Given the description of an element on the screen output the (x, y) to click on. 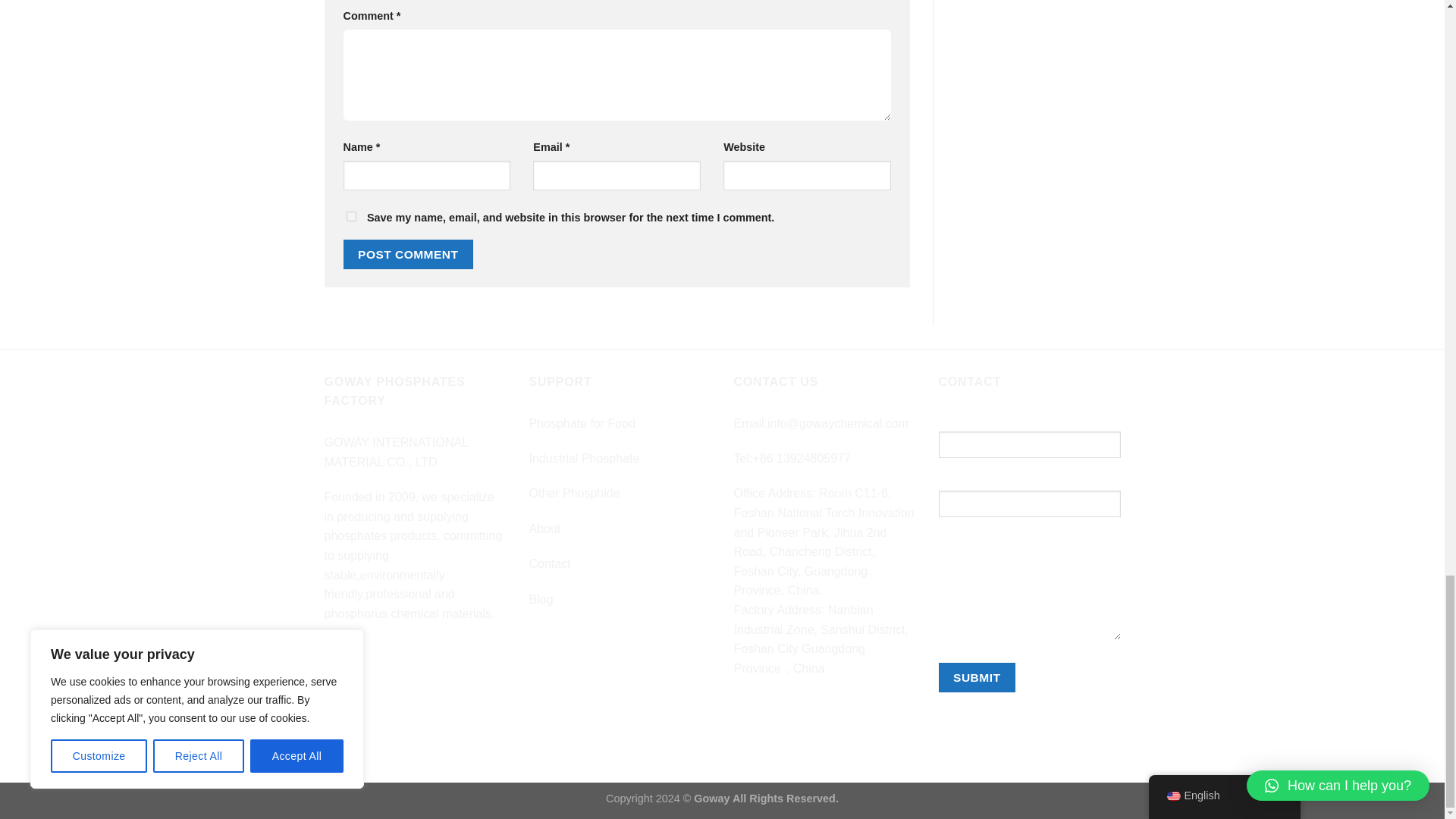
Submit (976, 677)
yes (350, 216)
Post Comment (407, 254)
